Given the description of an element on the screen output the (x, y) to click on. 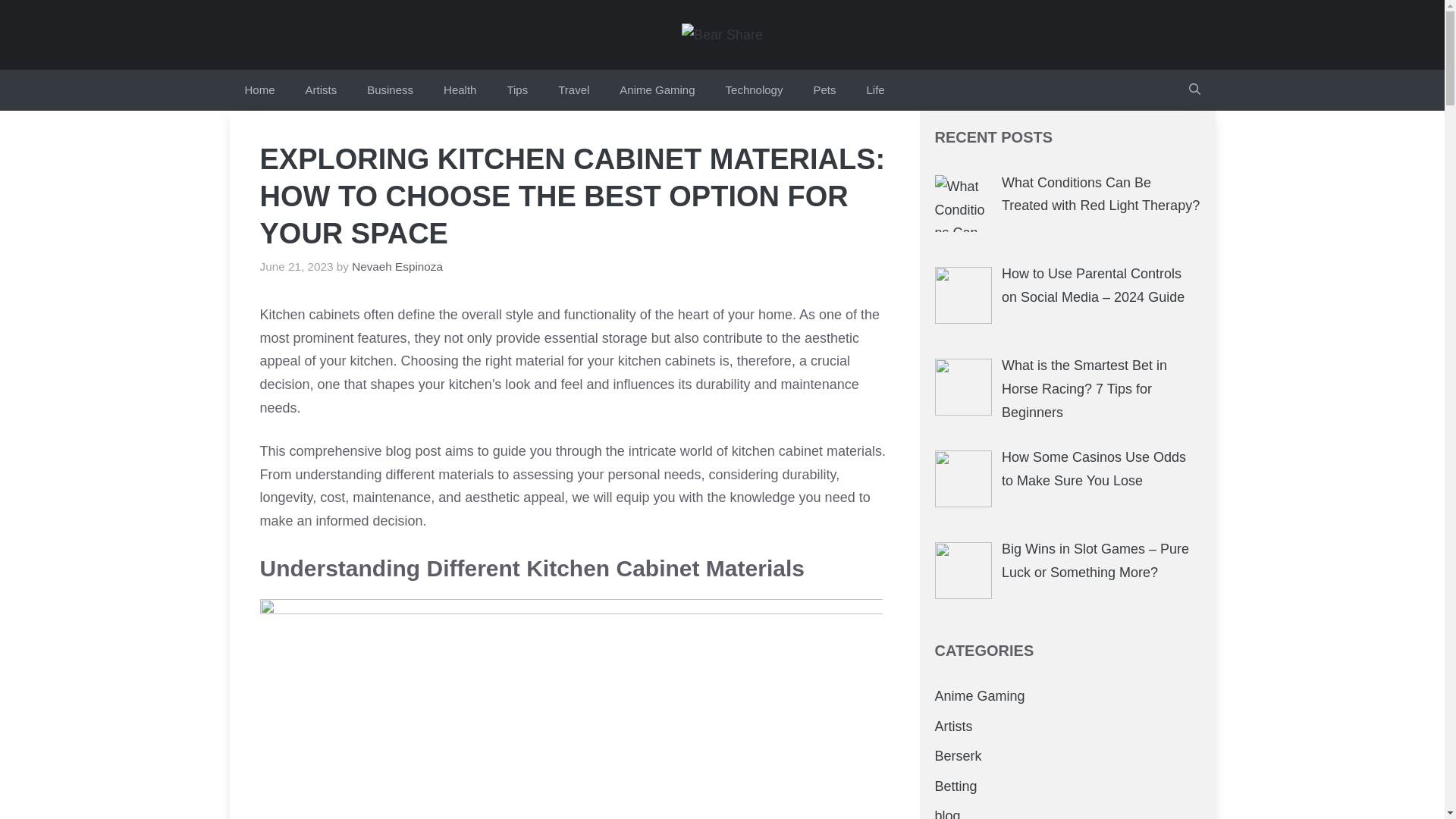
Business (390, 89)
Berserk (957, 755)
What Conditions Can Be Treated with Red Light Therapy? (1100, 194)
Life (874, 89)
Home (258, 89)
Betting (955, 785)
Health (460, 89)
Artists (320, 89)
Artists (953, 726)
View all posts by Nevaeh Espinoza (397, 266)
blog (946, 813)
Anime Gaming (979, 695)
Anime Gaming (657, 89)
Nevaeh Espinoza (397, 266)
Technology (753, 89)
